Given the description of an element on the screen output the (x, y) to click on. 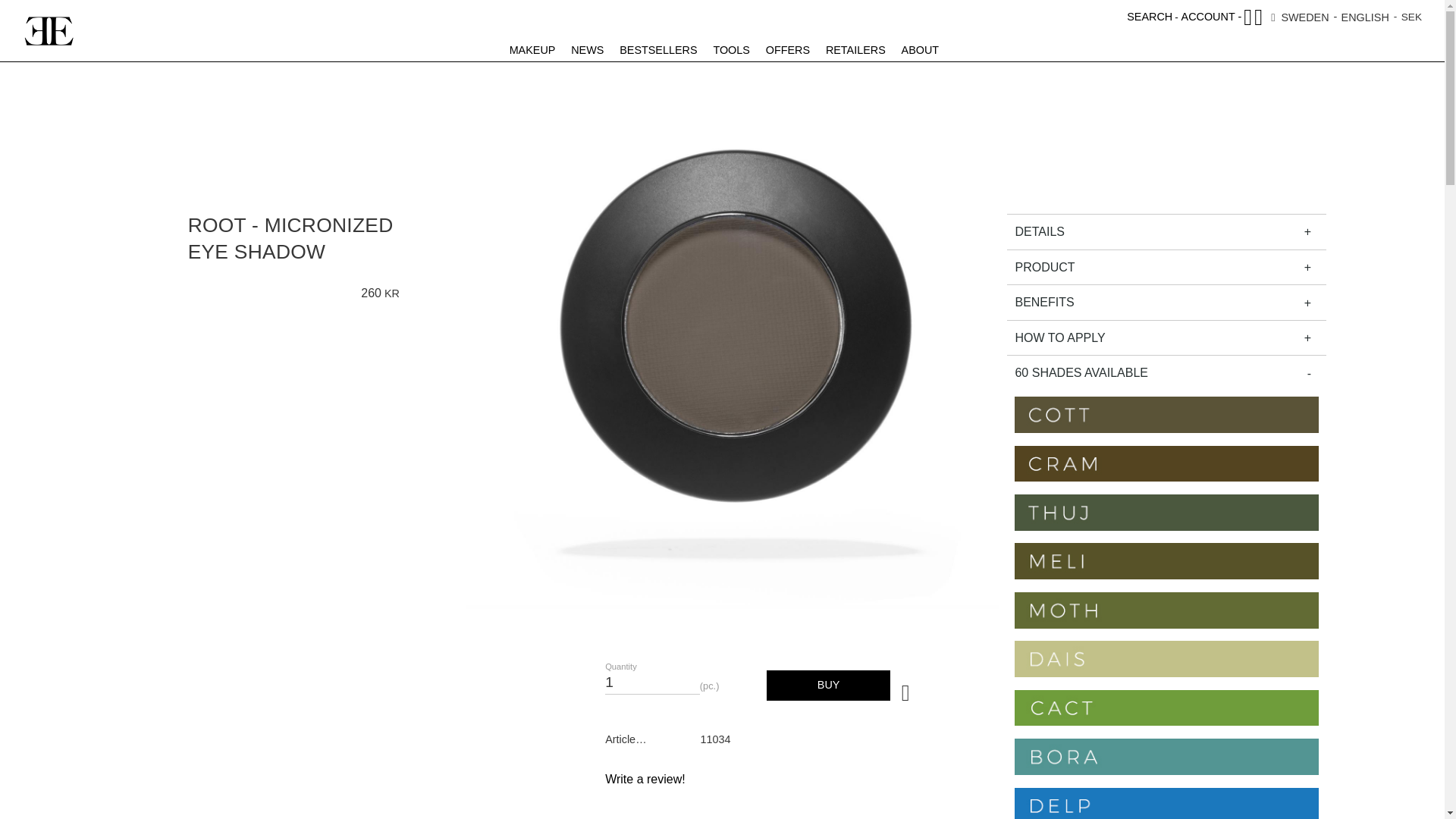
TOOLS (729, 50)
ACCOUNT - (1210, 16)
ABOUT (917, 50)
RETAILERS (853, 50)
BESTSELLERS (1343, 17)
MAKEUP (656, 50)
DETAILS (530, 50)
NEWS (1166, 231)
1 (585, 50)
MAKEUP (652, 678)
OFFERS (530, 50)
